Given the description of an element on the screen output the (x, y) to click on. 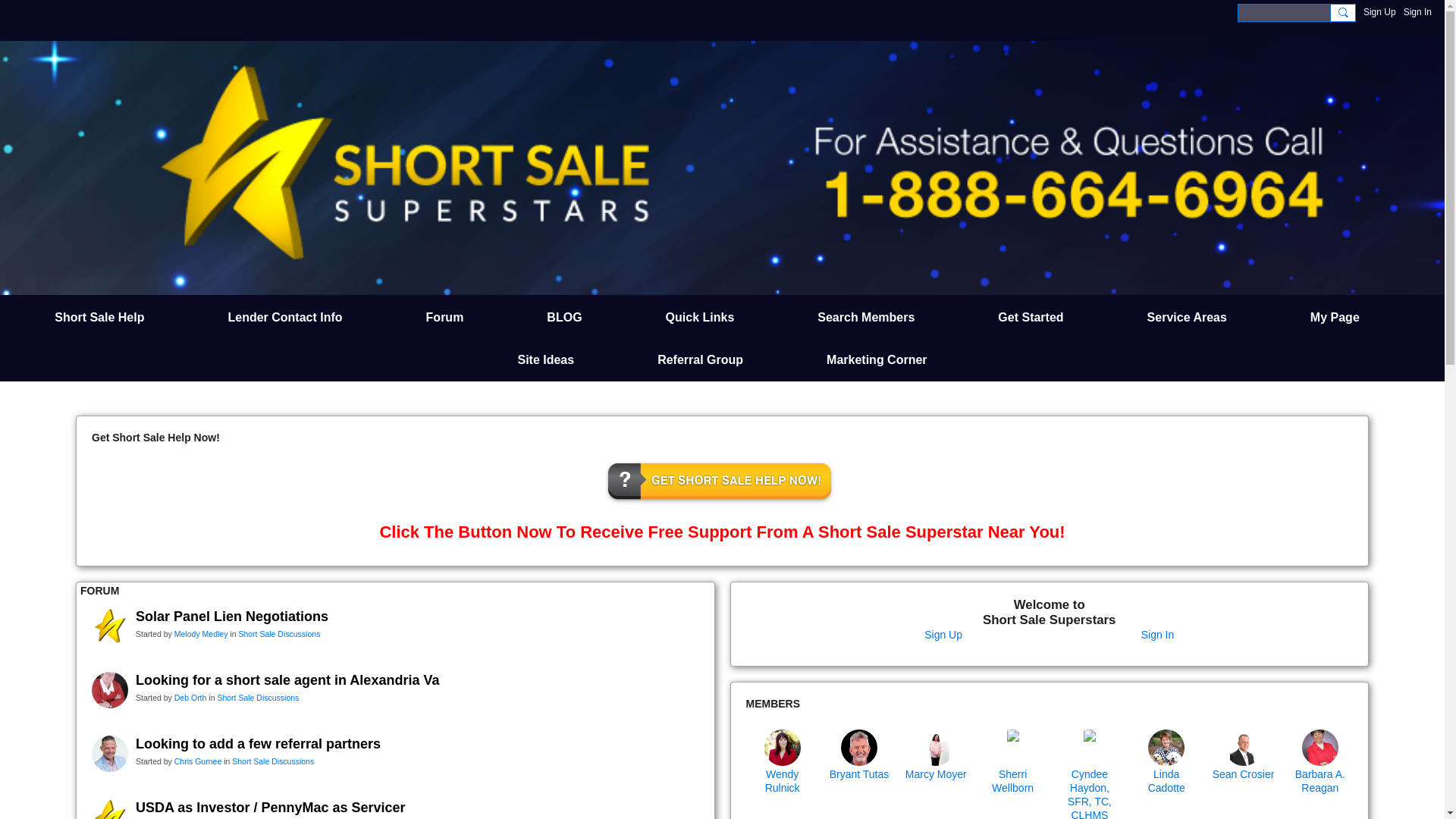
Sherri Wellborn (1012, 747)
Short Sale Help (98, 317)
BLOG (563, 317)
Site Ideas (544, 360)
Marcy Moyer (935, 747)
Sign In (1417, 12)
Cyndee Haydon, SFR, TC, CLHMS (1089, 747)
Forum (444, 317)
Barbara A. Reagan (1319, 747)
Linda Cadotte (1166, 747)
Service Areas (1187, 317)
Sean Crosier (1243, 747)
Search Members (865, 317)
Get Started (1030, 317)
Wendy Rulnick (782, 747)
